Given the description of an element on the screen output the (x, y) to click on. 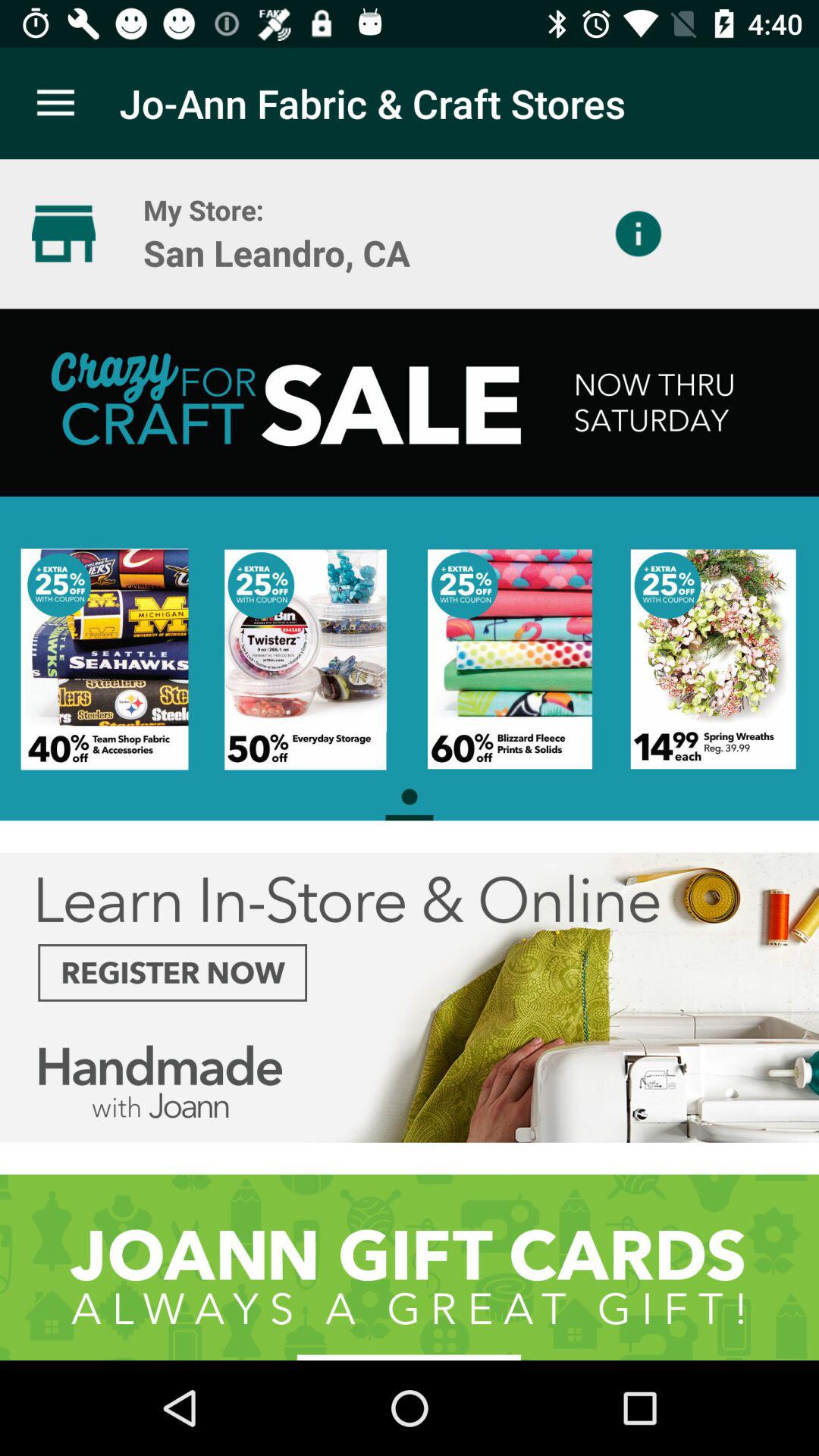
tap app to the left of jo ann fabric app (55, 103)
